Given the description of an element on the screen output the (x, y) to click on. 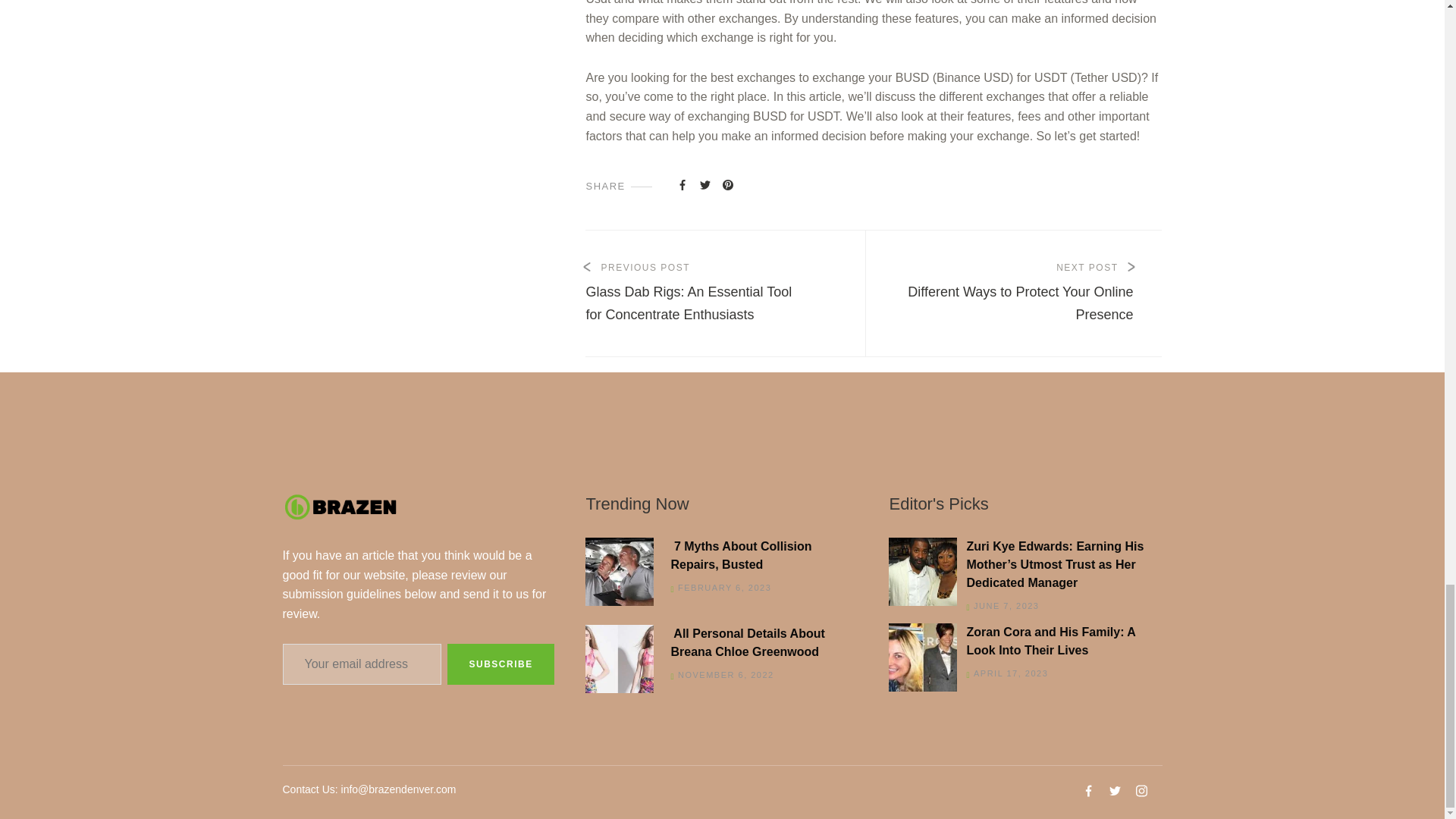
 All Personal Details About Breana Chloe Greenwood (717, 642)
 7 Myths About Collision Repairs, Busted  (717, 555)
SUBSCRIBE (1024, 293)
Zoran Cora and His Family: A Look Into Their Lives (499, 663)
